Given the description of an element on the screen output the (x, y) to click on. 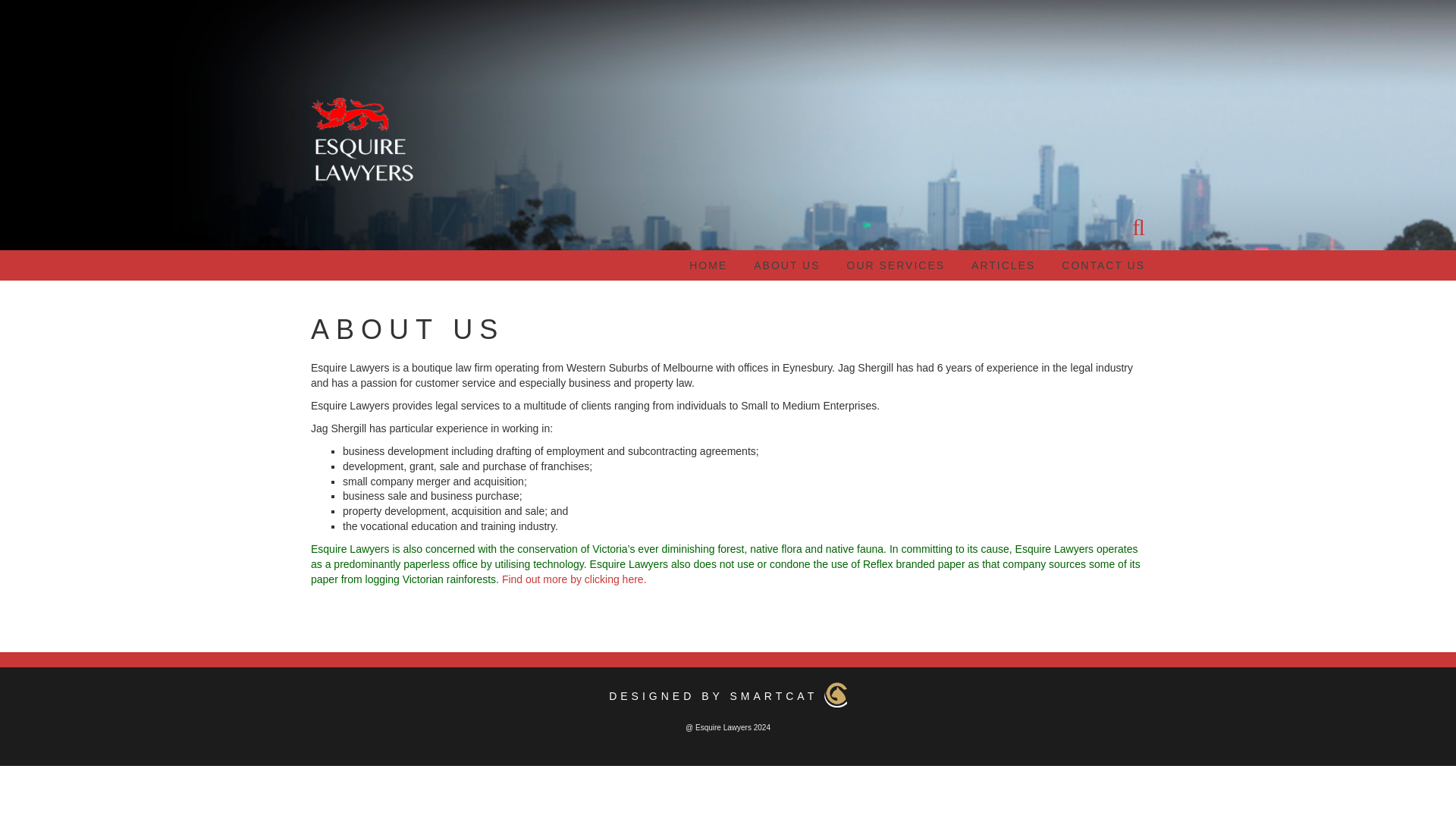
ARTICLES (1003, 265)
Find out more by clicking here. (574, 579)
OUR SERVICES (895, 265)
HOME (707, 265)
ABOUT US (786, 265)
CONTACT US (1102, 265)
